Given the description of an element on the screen output the (x, y) to click on. 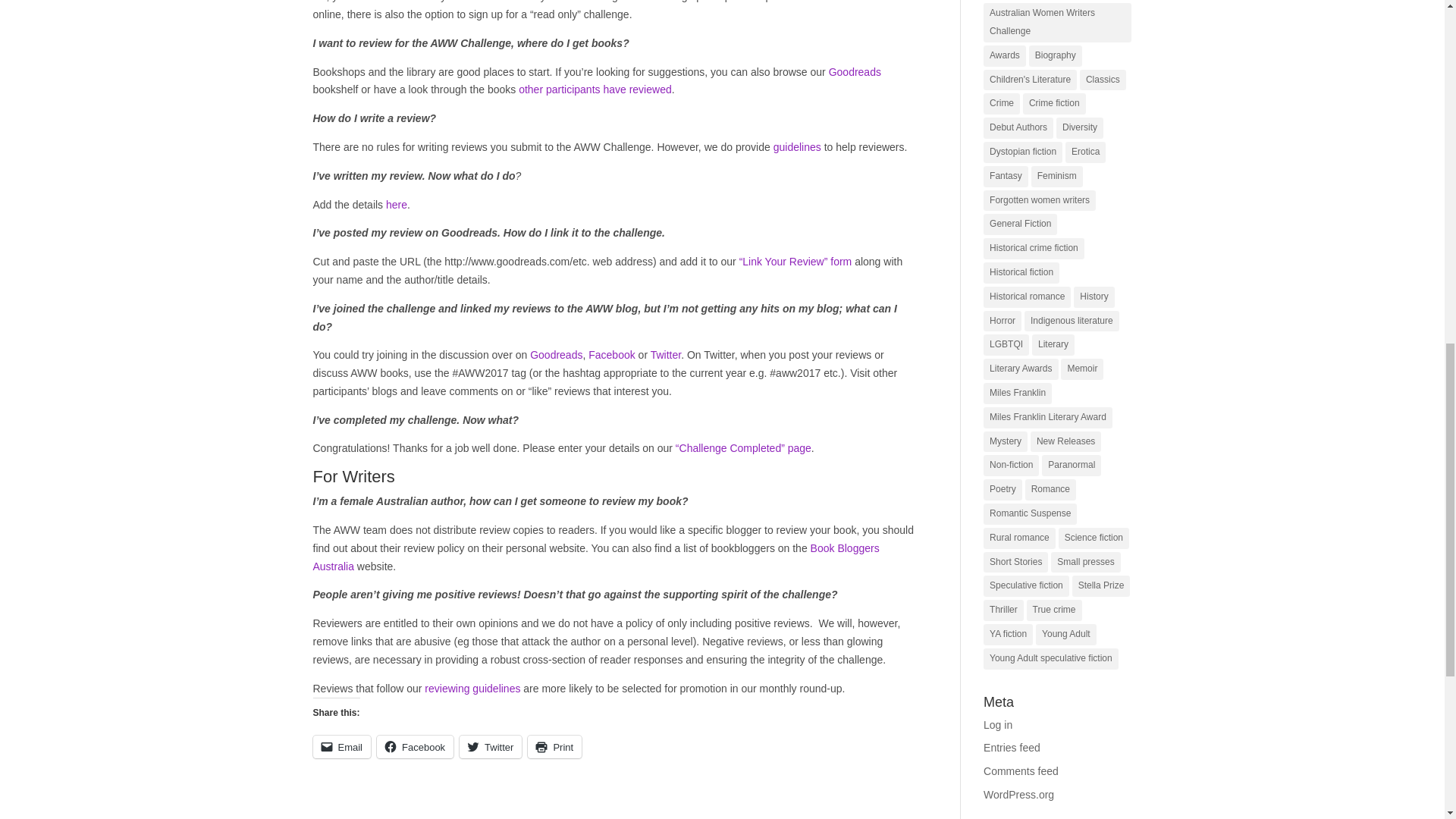
Click to share on Twitter (490, 746)
Click to share on Facebook (414, 746)
Click to print (553, 746)
Click to email a link to a friend (342, 746)
